Given the description of an element on the screen output the (x, y) to click on. 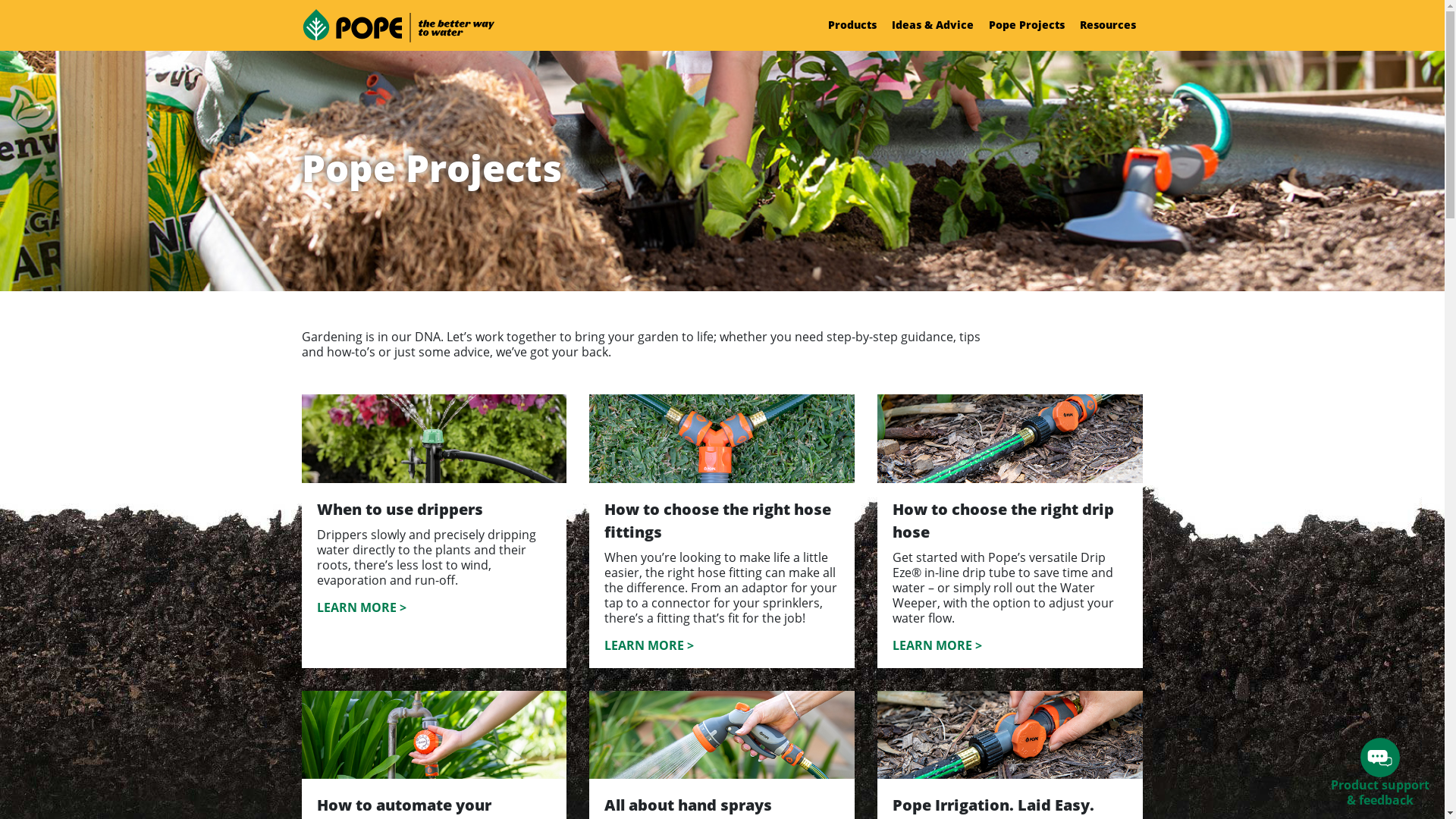
Products Element type: text (852, 24)
LEARN MORE > Element type: text (937, 645)
Pope Projects Element type: text (1026, 24)
Ideas & Advice Element type: text (932, 24)
LEARN MORE > Element type: text (361, 607)
LEARN MORE > Element type: text (648, 645)
Product support & feedback Element type: text (1380, 777)
Resources Element type: text (1107, 24)
